Given the description of an element on the screen output the (x, y) to click on. 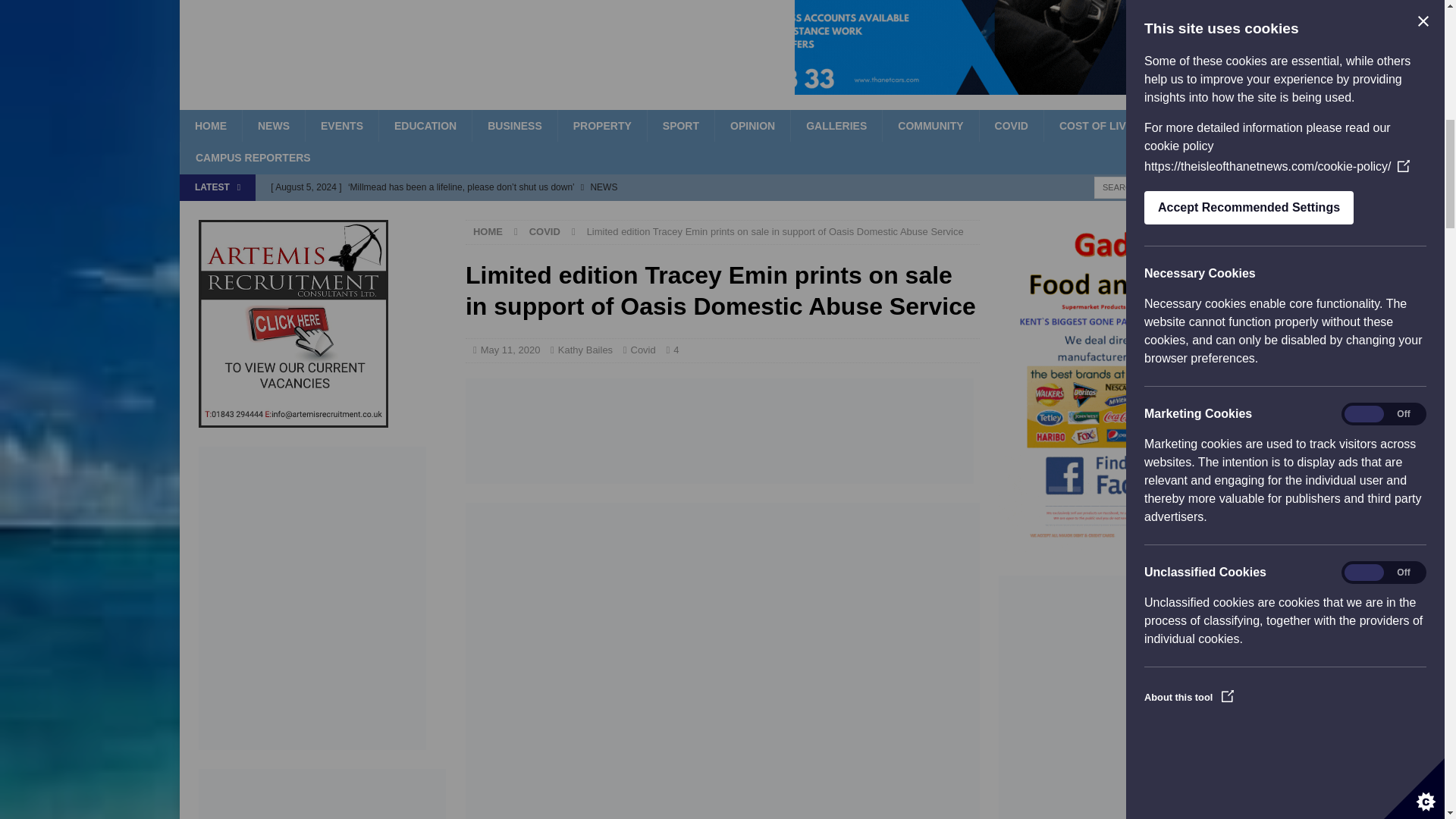
Matthew Munson: Colds, visits and tackling other languages (574, 212)
